Given the description of an element on the screen output the (x, y) to click on. 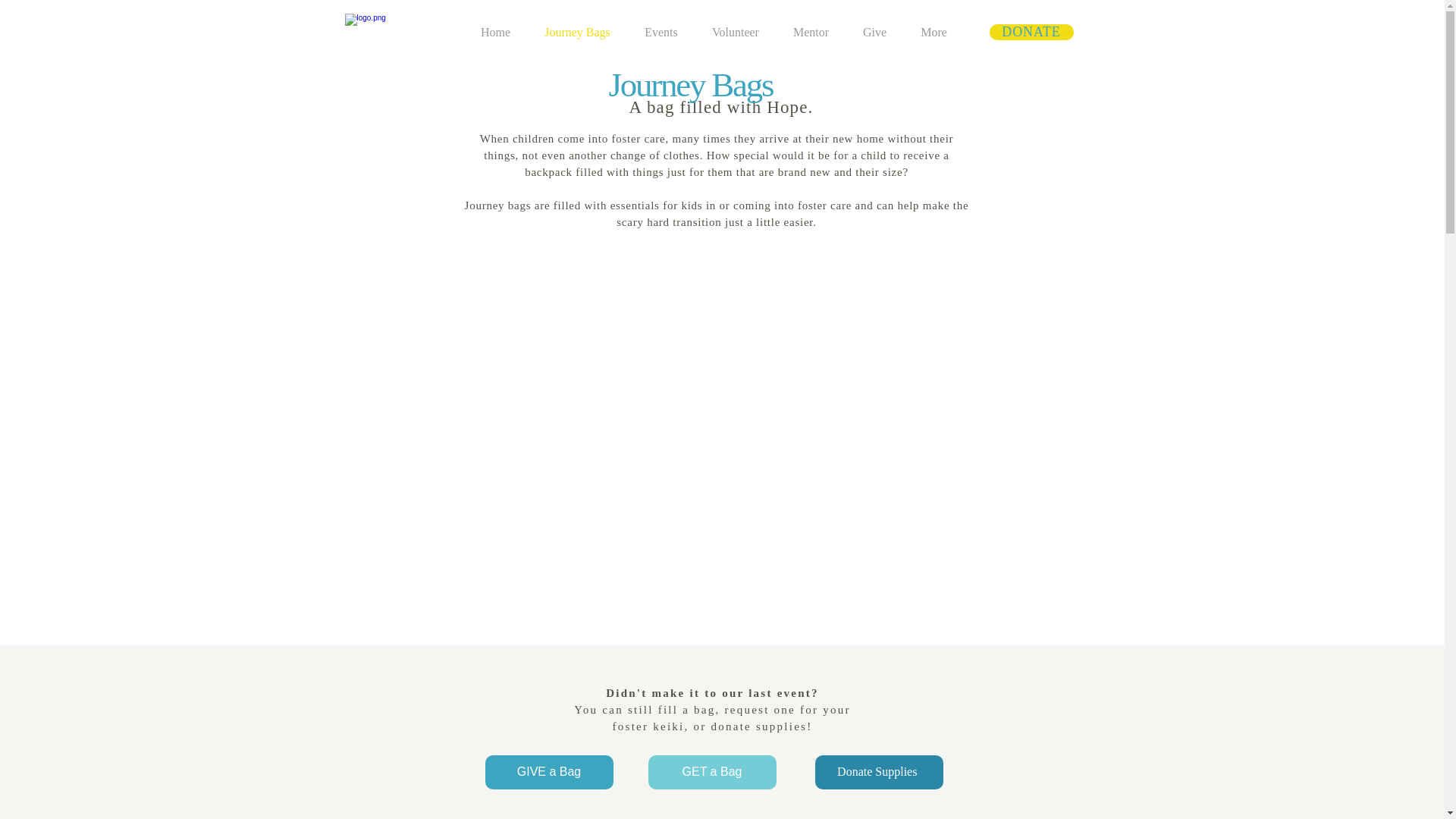
DONATE (1030, 32)
Give (874, 32)
GET a Bag (711, 772)
GIVE a Bag (548, 772)
Volunteer (735, 32)
Events (661, 32)
Home (495, 32)
Mentor (810, 32)
Donate Supplies (877, 772)
Journey Bags (577, 32)
